Given the description of an element on the screen output the (x, y) to click on. 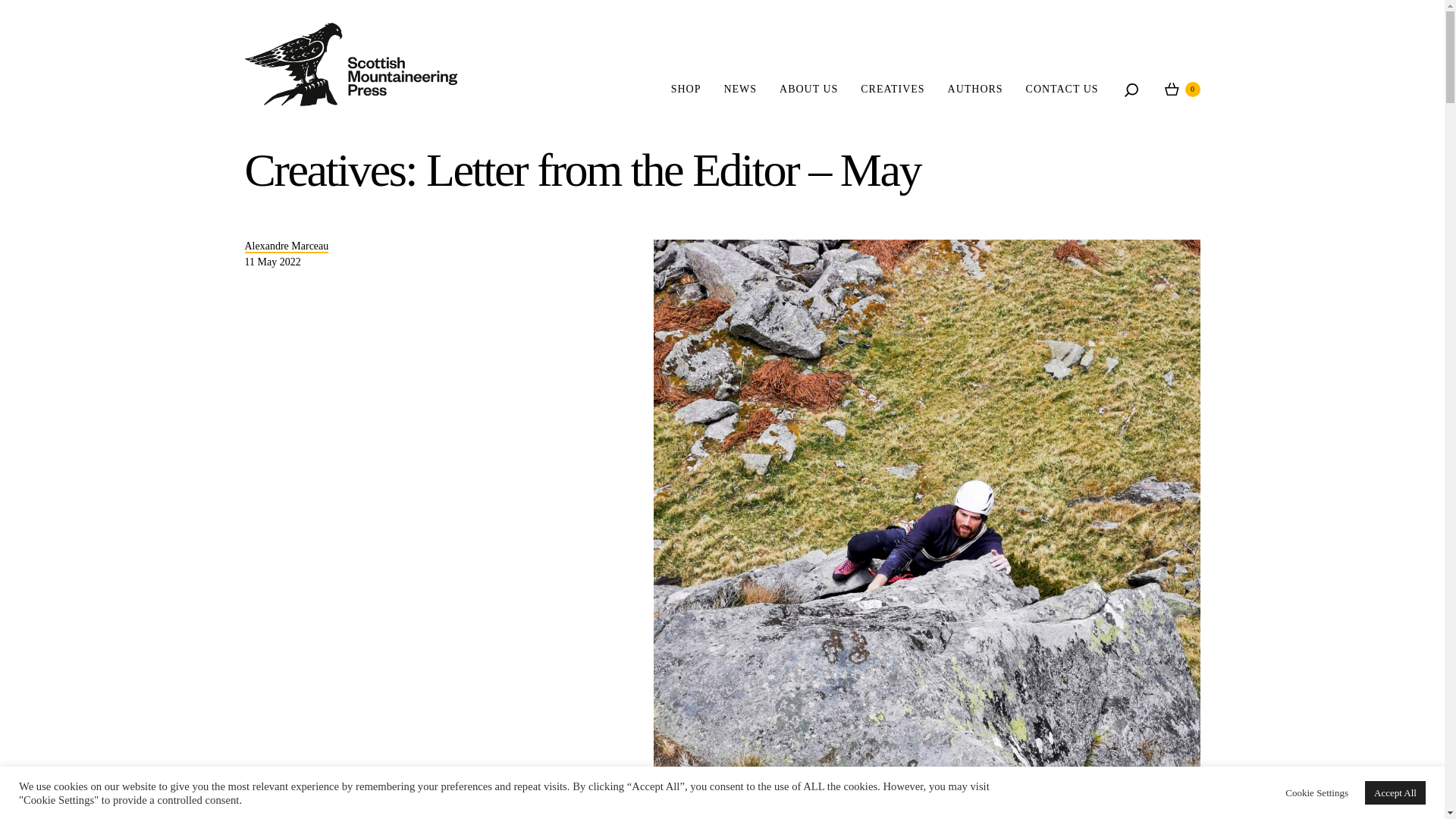
Alexandre Marceau (286, 246)
AUTHORS (975, 89)
SHOP (686, 89)
NEWS (740, 89)
Accept All (1395, 792)
View your shopping cart (1181, 89)
CONTACT US (1062, 89)
ABOUT US (808, 89)
0 (1181, 89)
CREATIVES (892, 89)
